Given the description of an element on the screen output the (x, y) to click on. 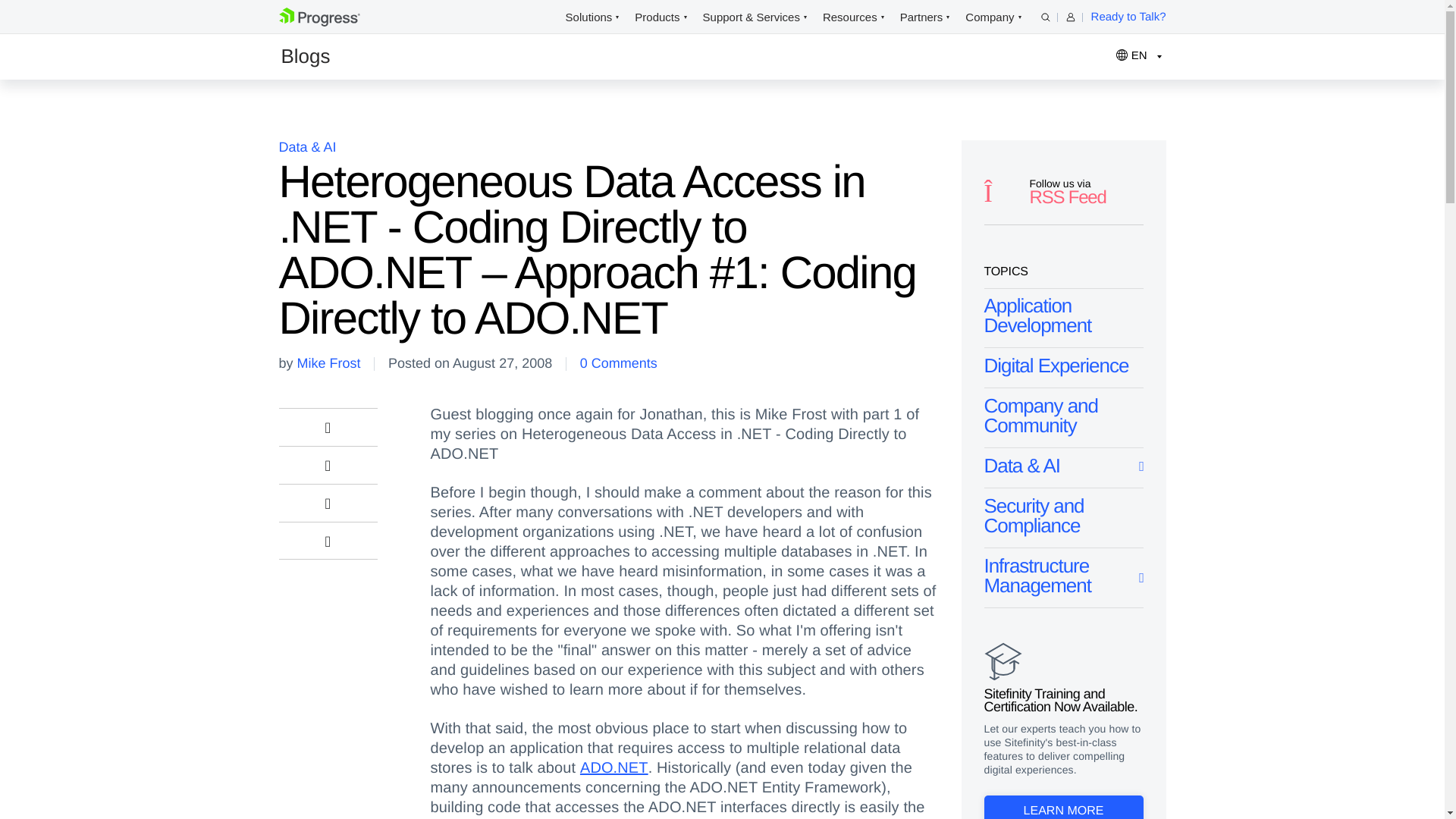
Progress (319, 22)
Solutions (589, 17)
Products (656, 17)
SKIP NAVIGATION (343, 17)
Search (1045, 17)
Progress (319, 16)
